Given the description of an element on the screen output the (x, y) to click on. 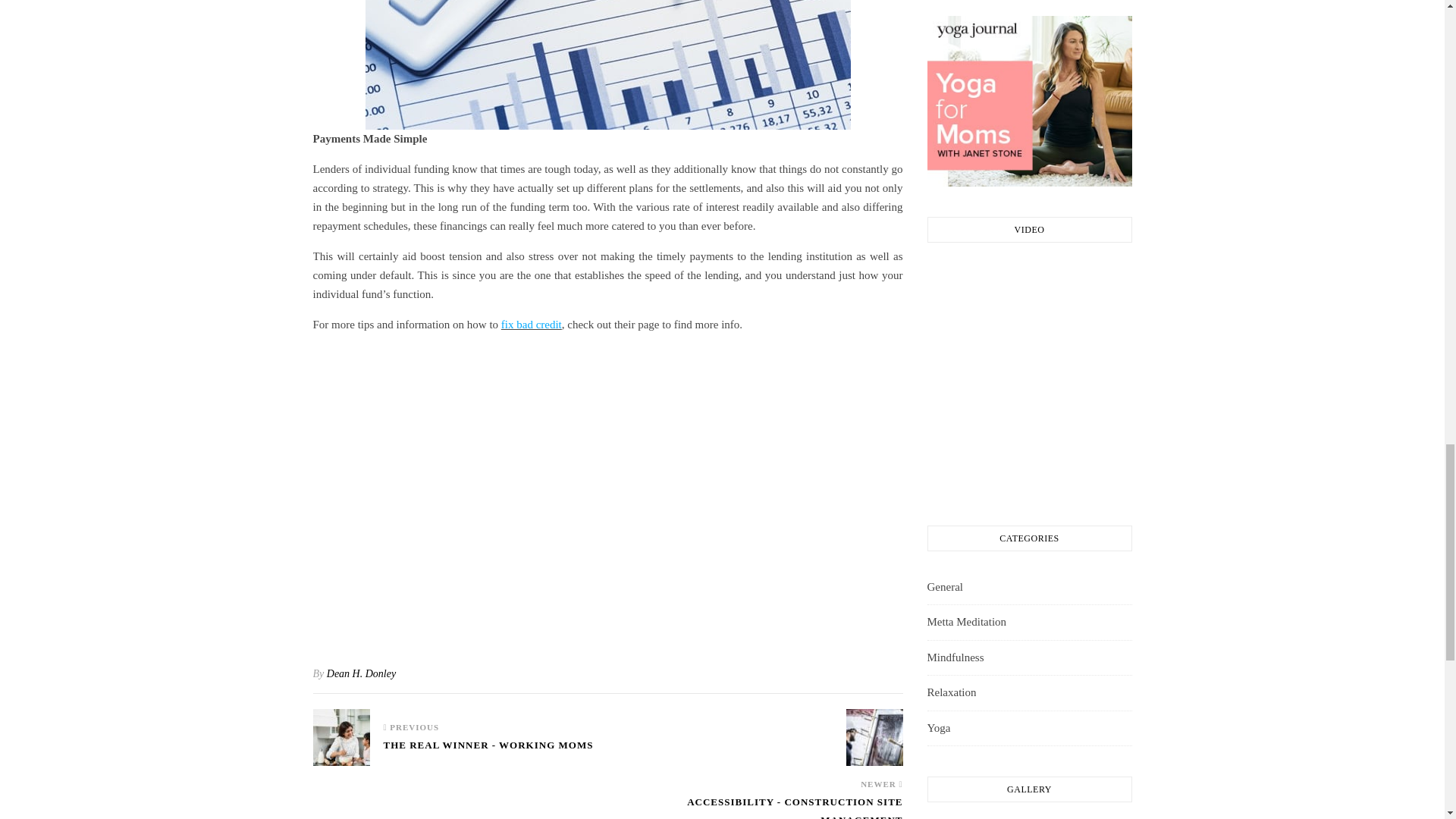
THE REAL WINNER - WORKING MOMS (489, 752)
The Real Winner - Working Moms (341, 737)
Dean H. Donley (361, 673)
Accessibility - Construction Site Management (755, 806)
Posts by Dean H. Donley (361, 673)
Accessibility - Construction Site Management (873, 737)
ACCESSIBILITY - CONSTRUCTION SITE MANAGEMENT (755, 806)
The Real Winner - Working Moms (489, 752)
YouTube video player (607, 491)
fix bad credit (531, 324)
